Given the description of an element on the screen output the (x, y) to click on. 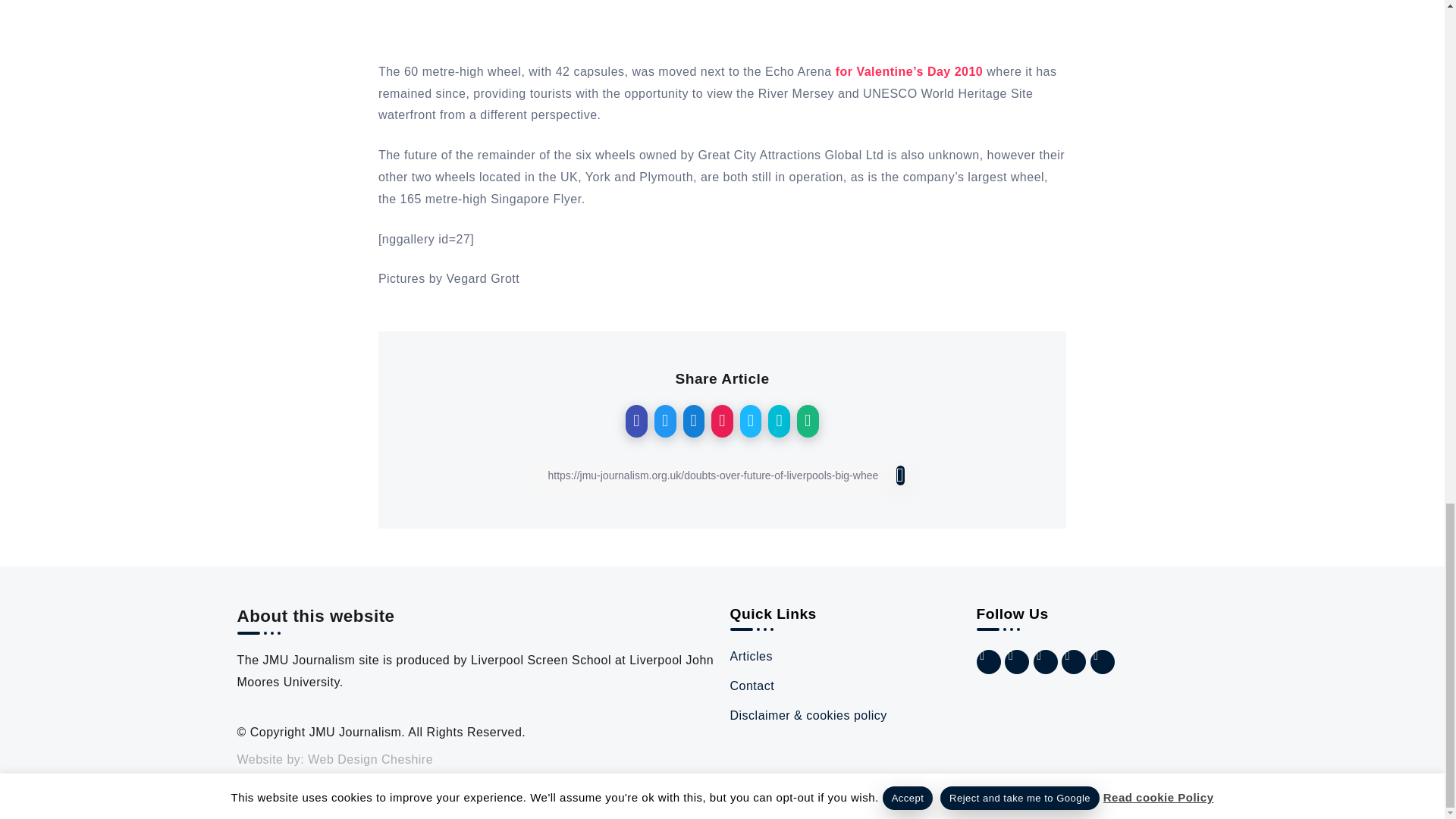
Web Design Cheshire (369, 758)
Contact (844, 686)
Liverpool's wheel of love launched (909, 71)
Articles (844, 657)
